Given the description of an element on the screen output the (x, y) to click on. 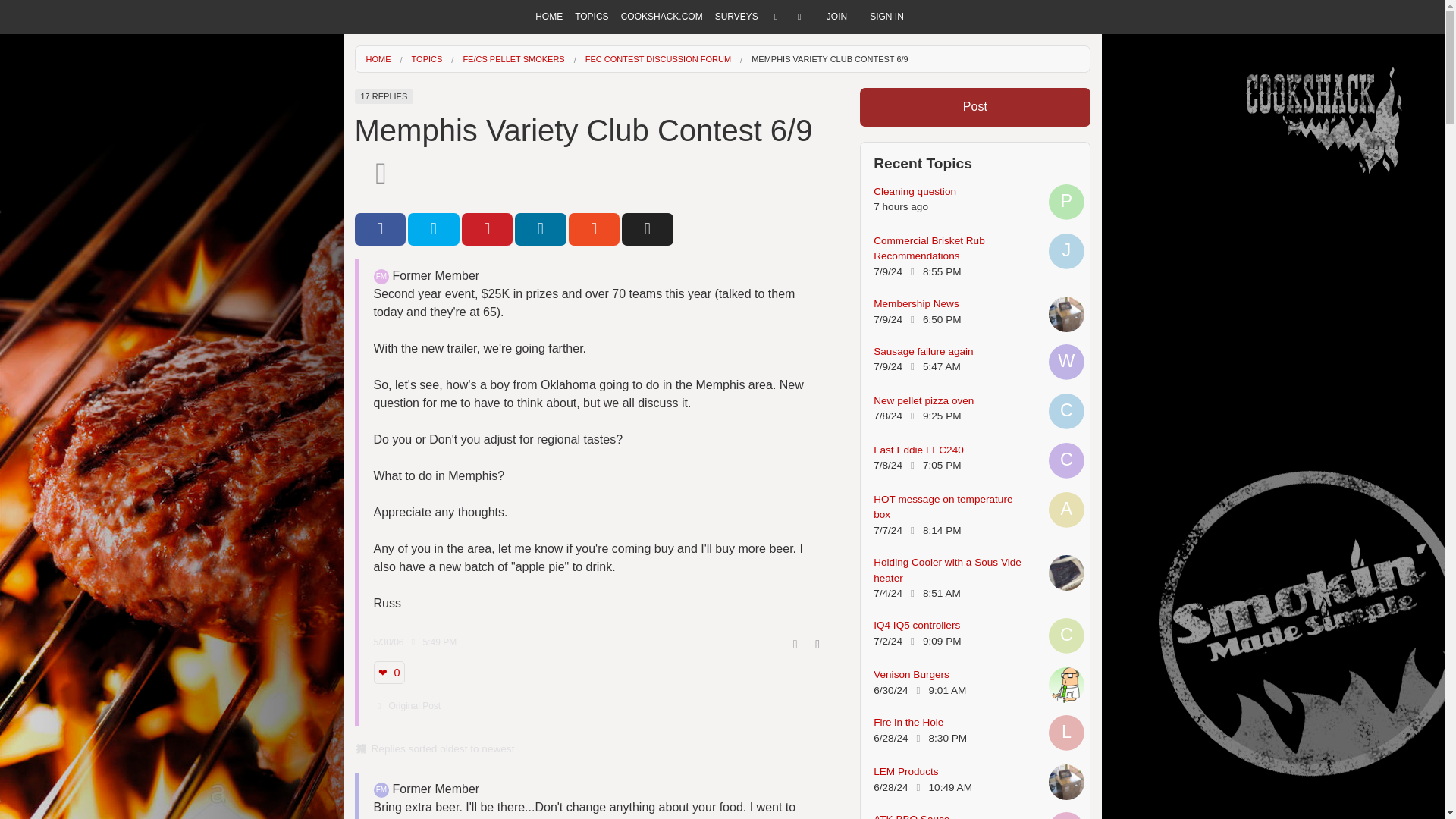
Former Member (380, 789)
P (1066, 201)
HOME (549, 17)
START YOUR SMOKING ADVENTURE HERE (591, 100)
ADDITIONAL SMOKING TOPICS (591, 181)
FM (380, 789)
FM (380, 276)
Former Member (380, 276)
J (1066, 251)
DIRECTORY (591, 47)
TOPICS (591, 17)
ALL TOPICS (591, 73)
CS GRILLS AND CHARBROILER (591, 154)
